Given the description of an element on the screen output the (x, y) to click on. 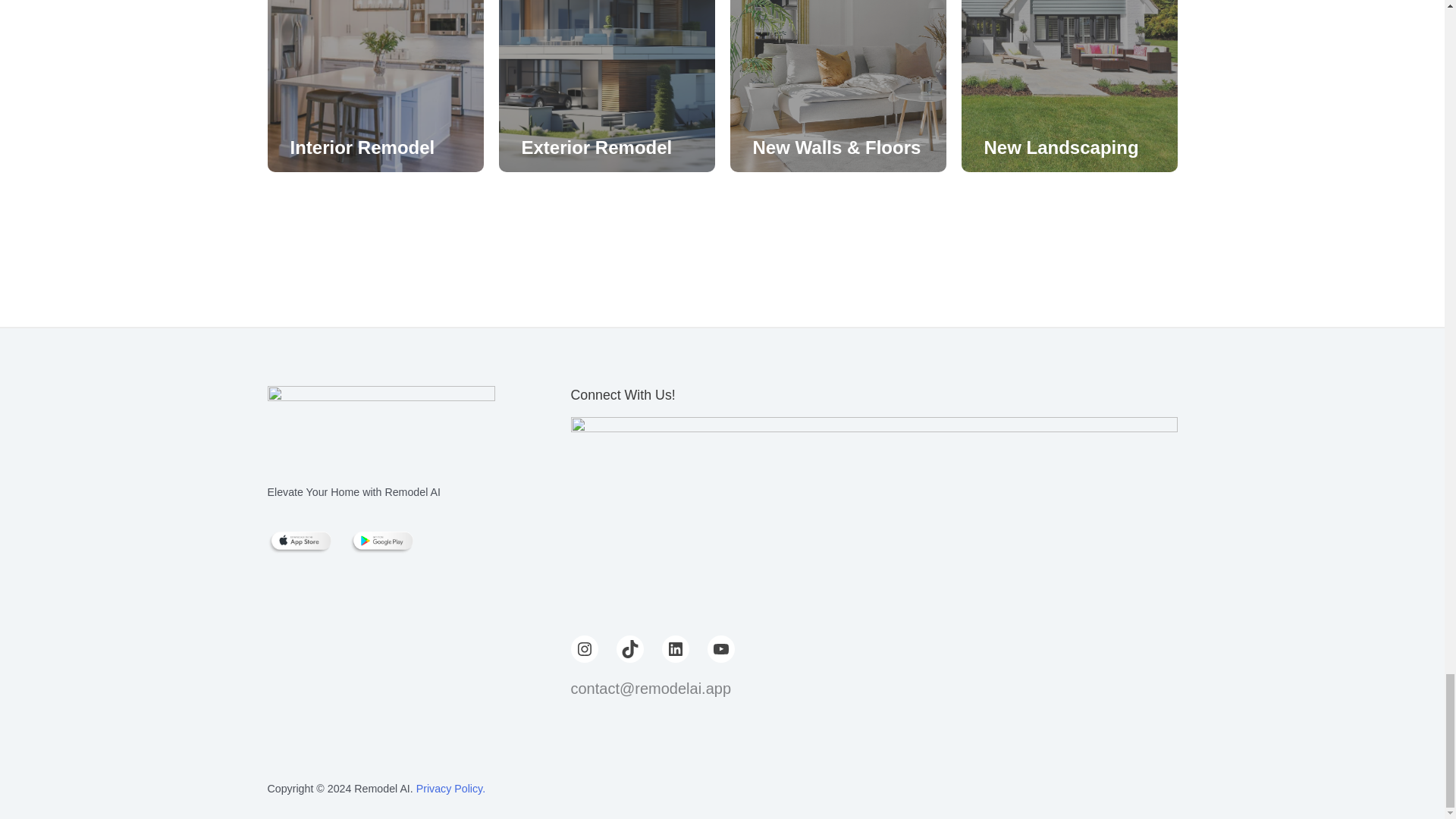
New Landscaping (1061, 147)
Privacy Policy. (450, 788)
Instagram (583, 648)
Exterior (556, 147)
YouTube (719, 648)
LinkedIn (674, 648)
Interior (320, 147)
TikTok (629, 648)
